Given the description of an element on the screen output the (x, y) to click on. 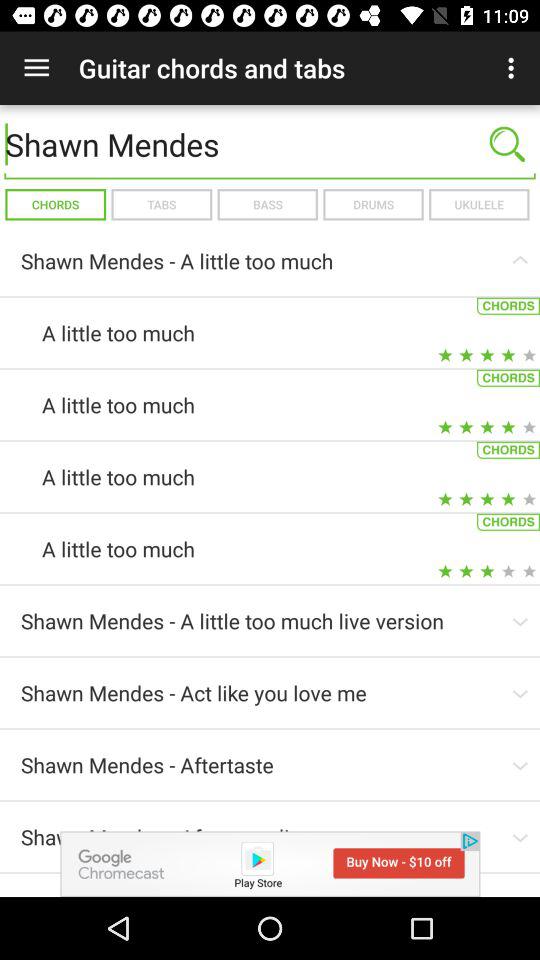
click bass (267, 204)
